Given the description of an element on the screen output the (x, y) to click on. 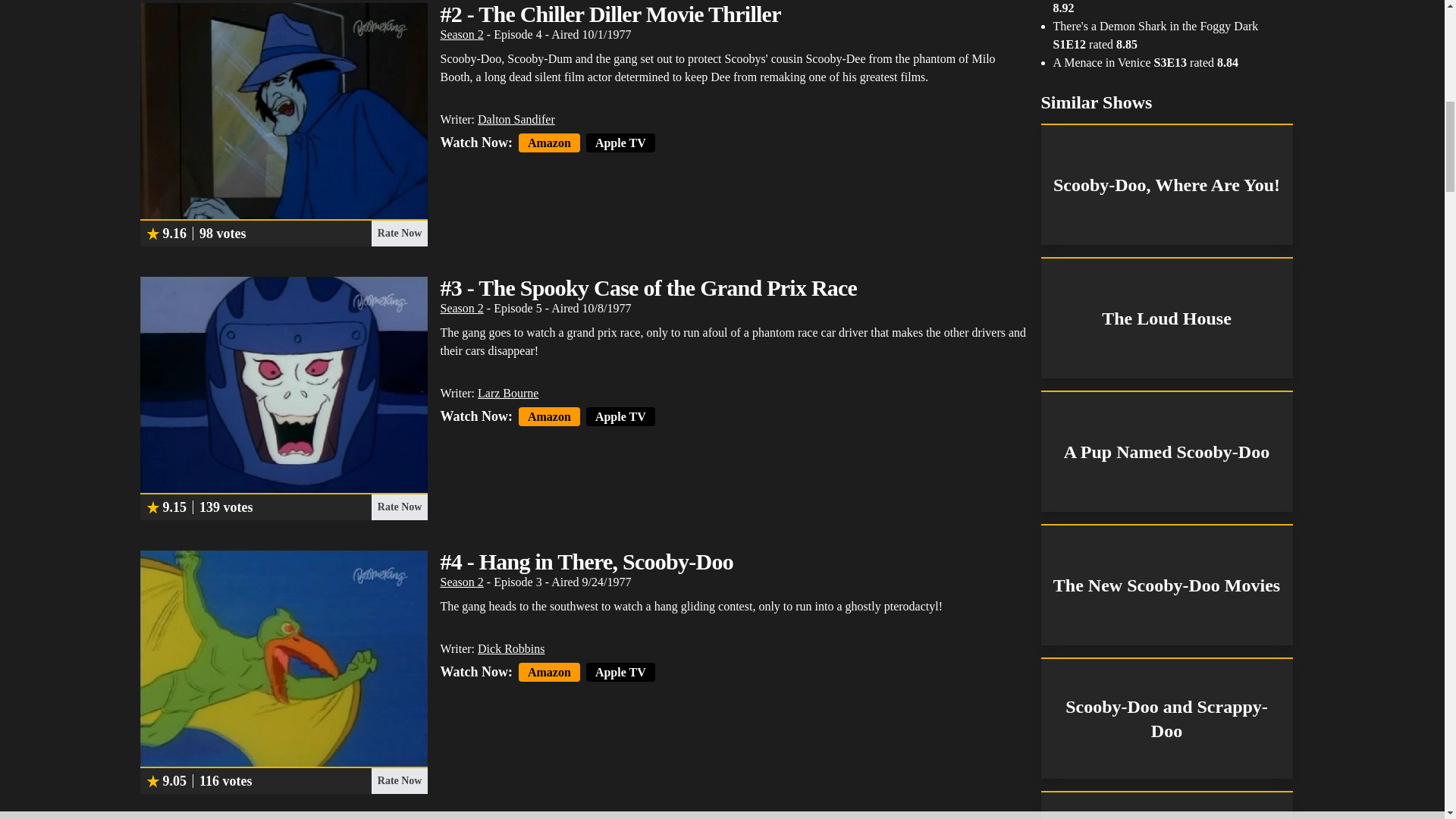
Dick Robbins (510, 648)
Season 2 (461, 33)
Rate Now (399, 780)
Dalton Sandifer (515, 119)
Amazon (548, 671)
Larz Bourne (507, 392)
Apple TV (620, 142)
Season 2 (461, 581)
Amazon (548, 416)
Rate Now (399, 507)
Rate Now (399, 233)
Season 2 (461, 308)
Amazon (548, 142)
Apple TV (620, 671)
Apple TV (620, 416)
